Given the description of an element on the screen output the (x, y) to click on. 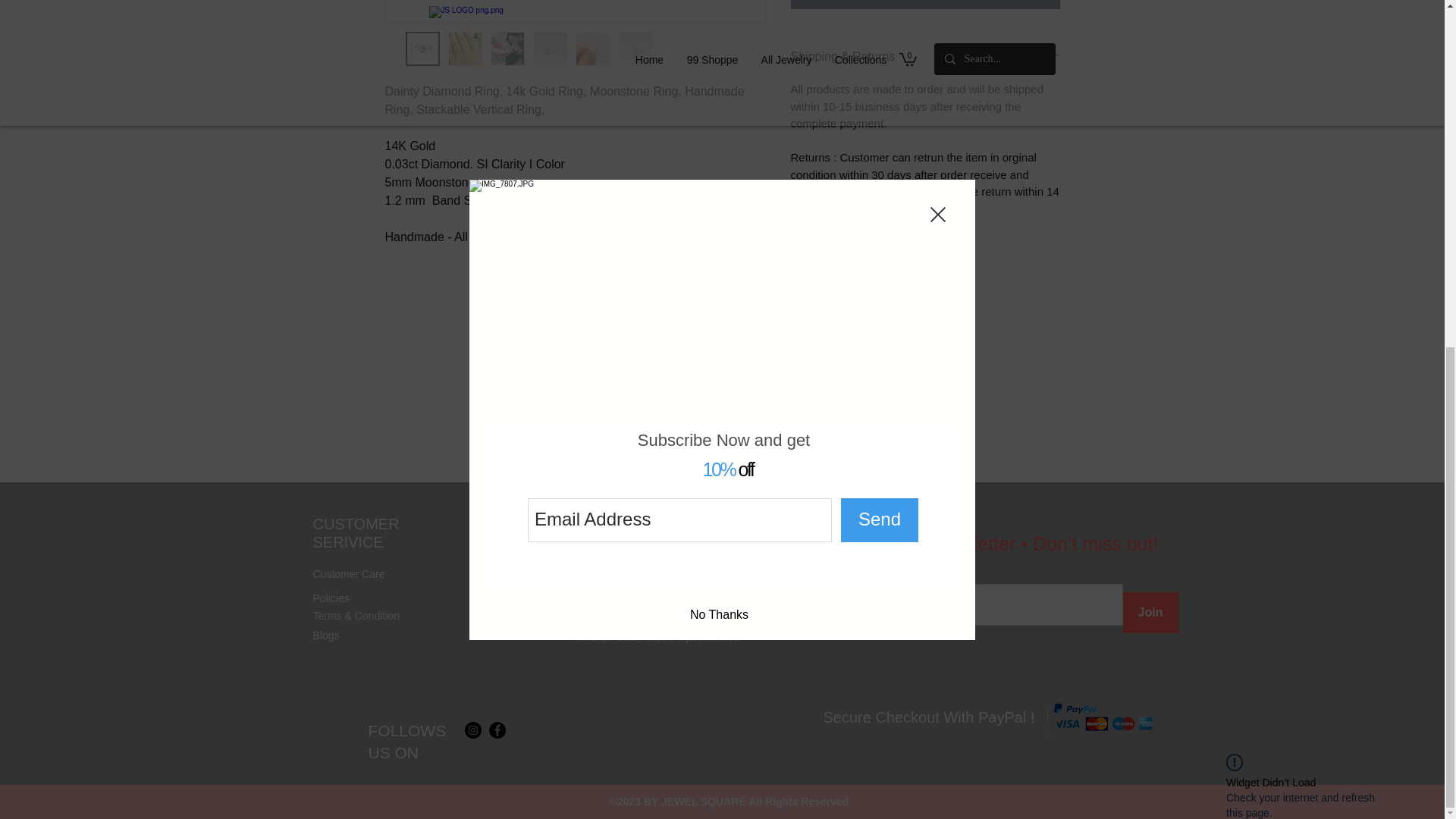
Blogs (326, 635)
Customer Care (348, 573)
Necklace (500, 630)
Policies (331, 598)
Bracelets (500, 613)
Rings (492, 595)
Earrings (498, 573)
Add to Cart (924, 4)
